Given the description of an element on the screen output the (x, y) to click on. 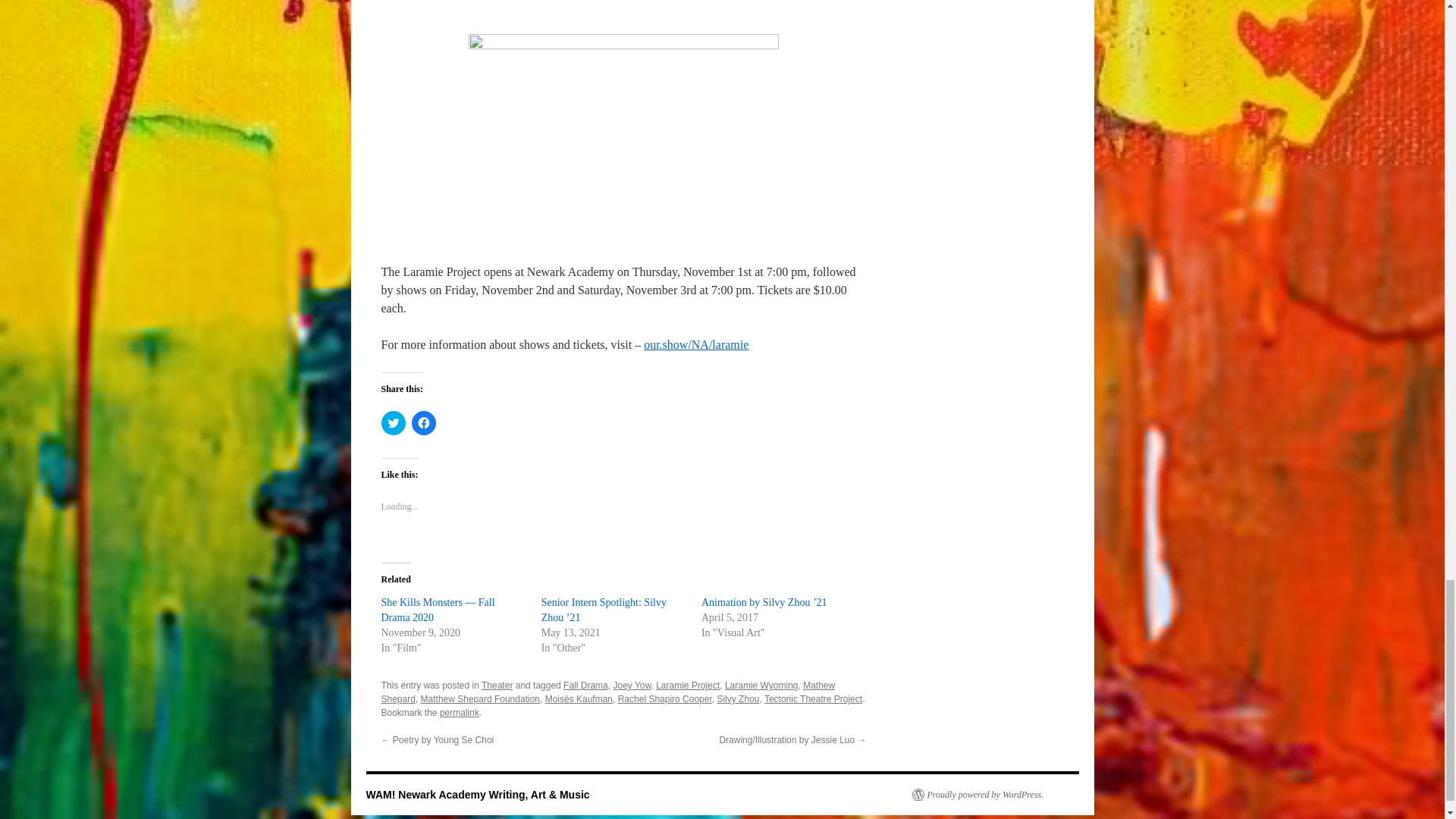
Click to share on Facebook (422, 422)
Fall Drama (585, 685)
Click to share on Twitter (392, 422)
Semantic Personal Publishing Platform (977, 794)
Theater (496, 685)
